Given the description of an element on the screen output the (x, y) to click on. 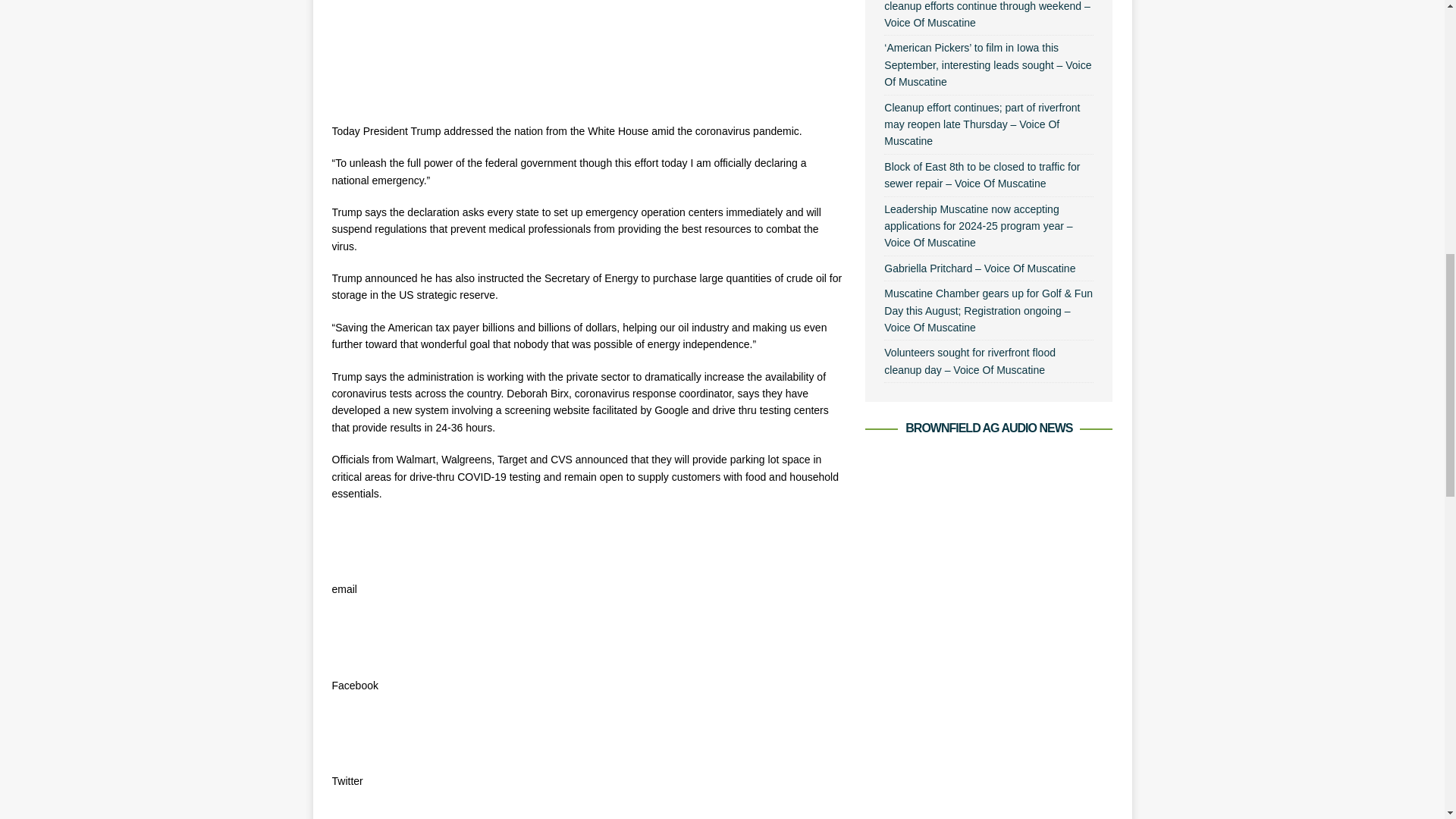
Twitter (355, 733)
Facebook (355, 637)
Email (355, 540)
Print (355, 812)
